Given the description of an element on the screen output the (x, y) to click on. 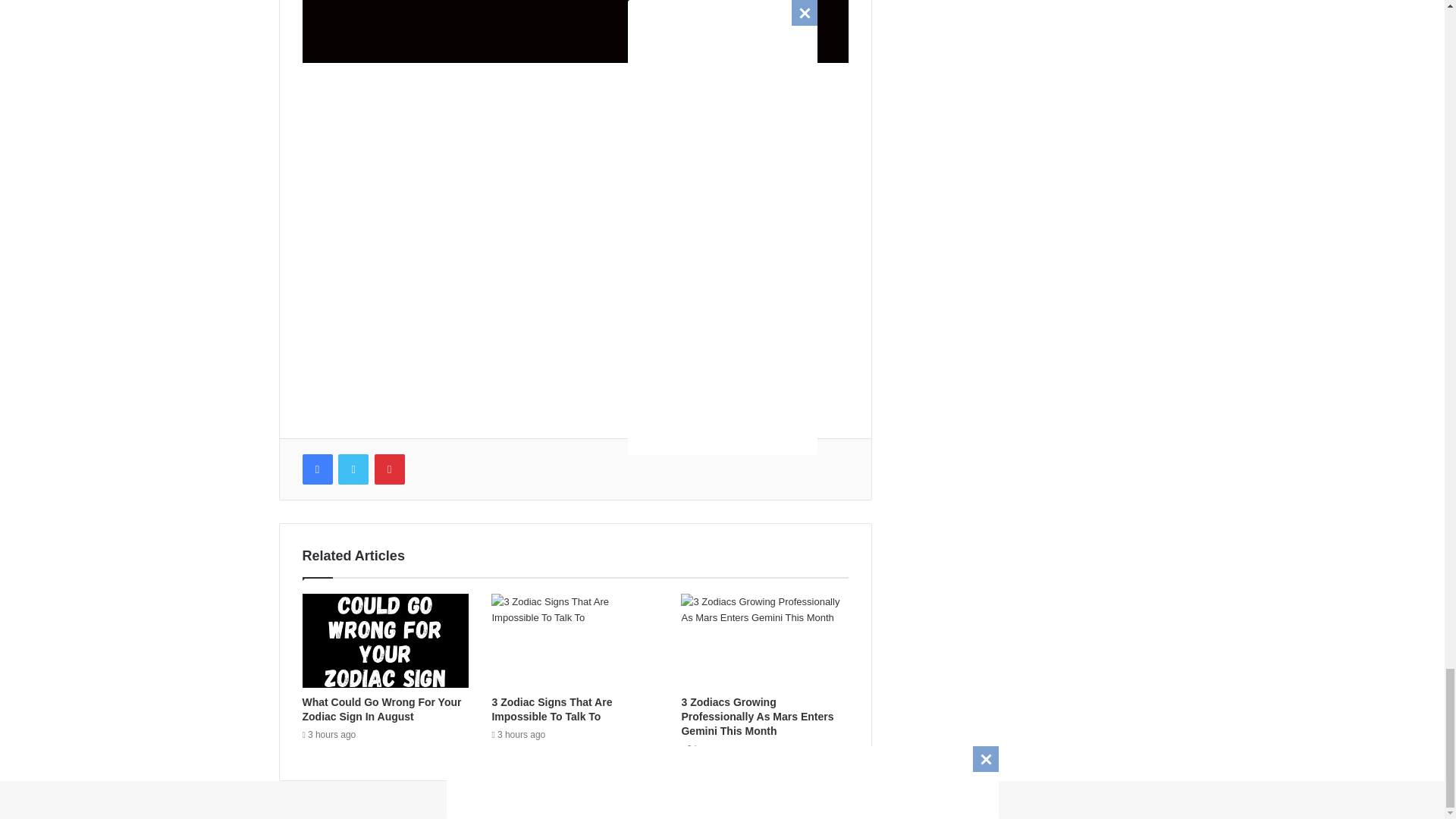
Facebook (316, 469)
Pinterest (389, 469)
3 Zodiac Signs That Are Impossible To Talk To (551, 709)
Twitter (352, 469)
What Could Go Wrong For Your Zodiac Sign In August (381, 709)
